Given the description of an element on the screen output the (x, y) to click on. 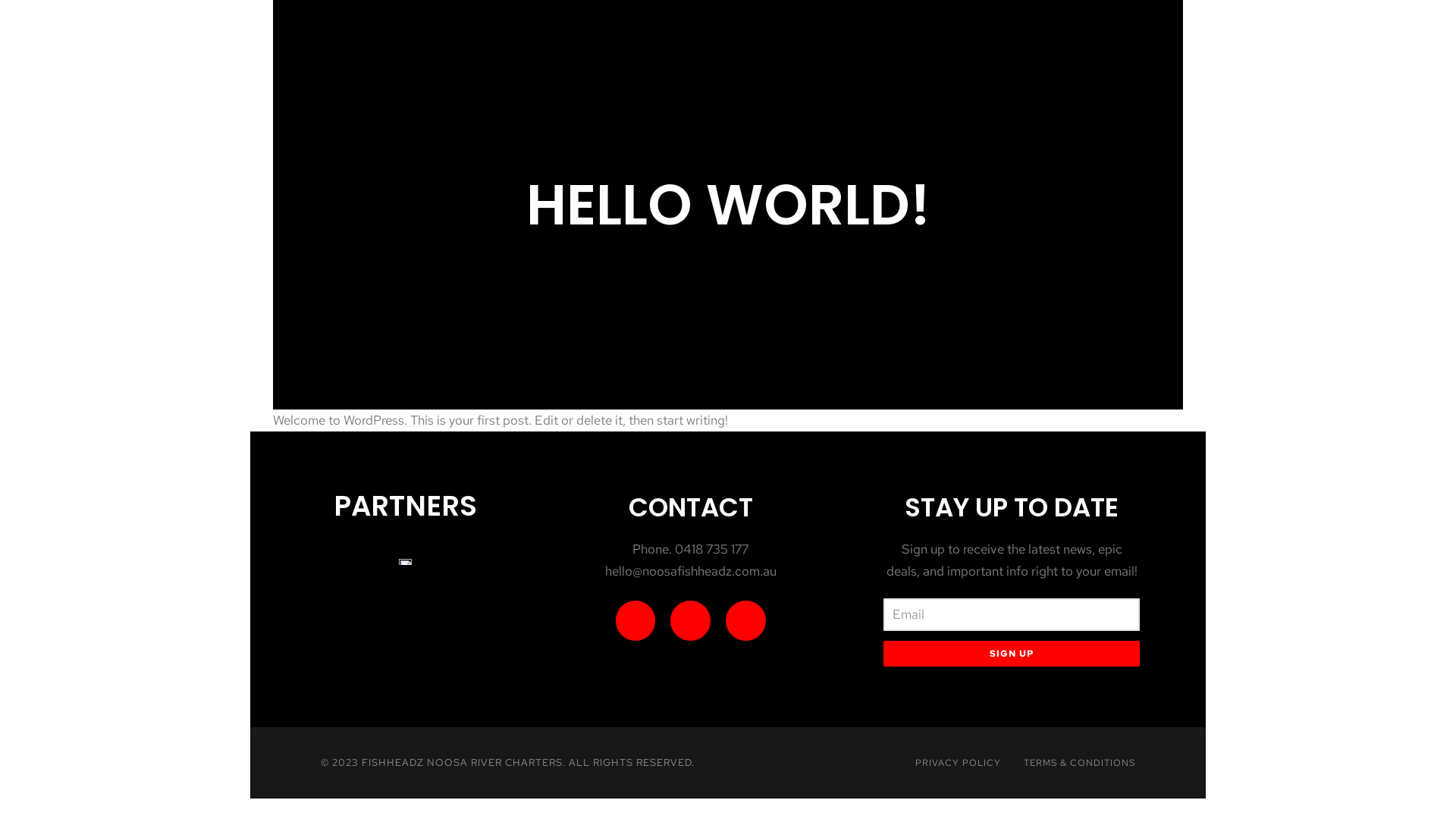
SIGN UP Element type: text (1011, 653)
TERMS & CONDITIONS Element type: text (1079, 762)
PRIVACY POLICY Element type: text (958, 762)
